Given the description of an element on the screen output the (x, y) to click on. 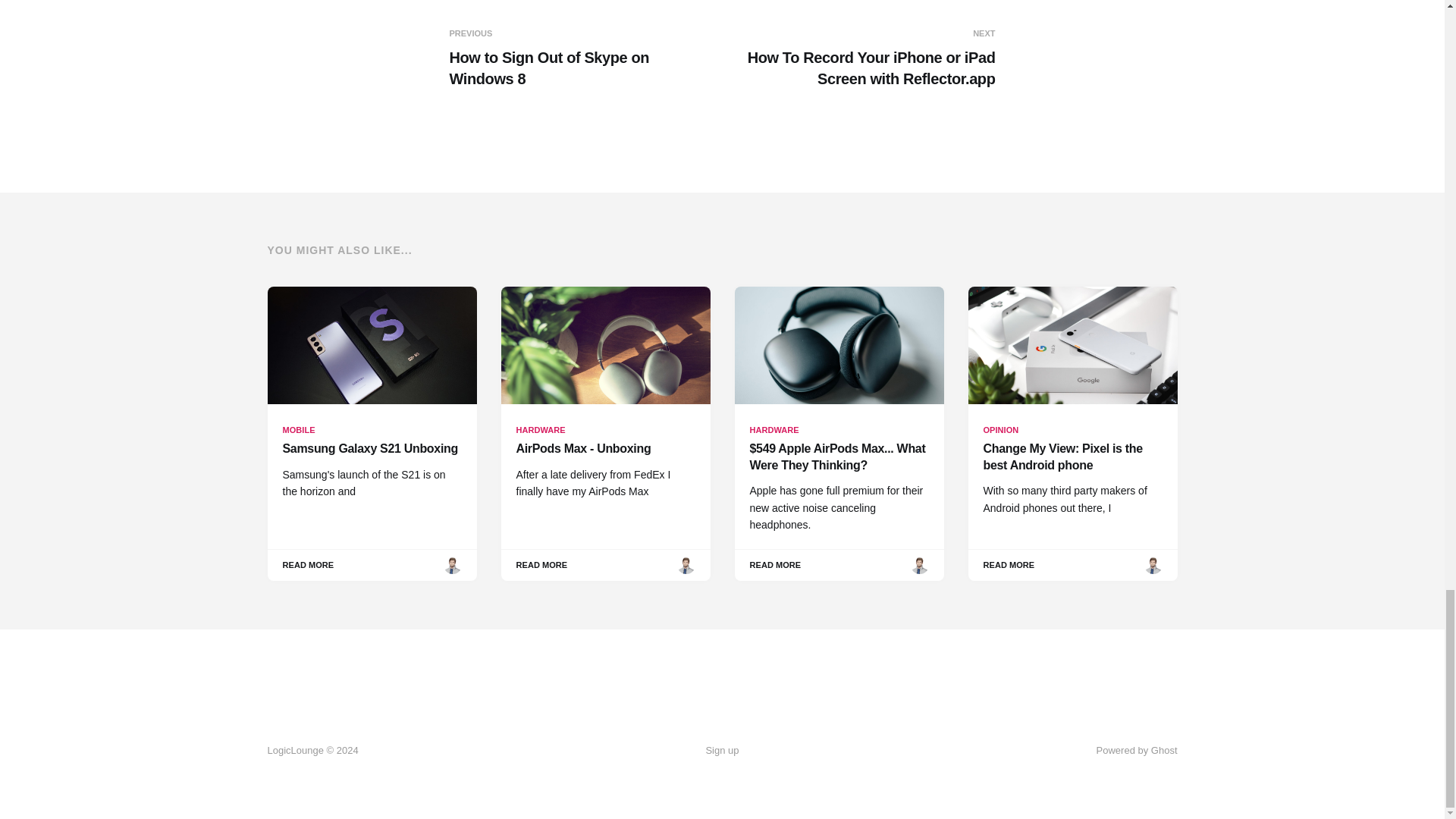
Sign up (582, 58)
Powered by Ghost (721, 750)
